Given the description of an element on the screen output the (x, y) to click on. 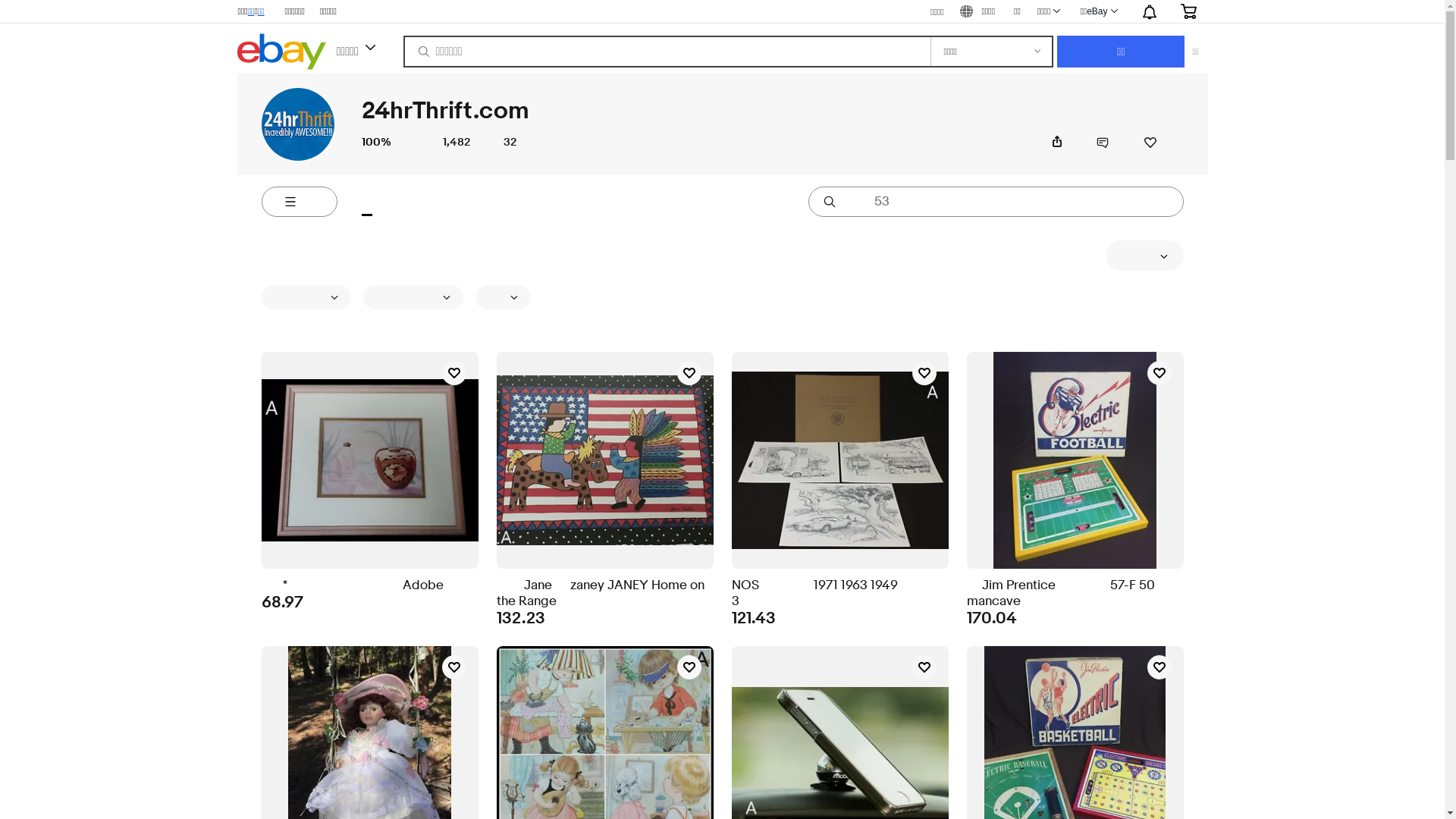
24hrThrift.com Element type: text (444, 110)
24hrThrift.com Element type: hover (296, 123)
